Given the description of an element on the screen output the (x, y) to click on. 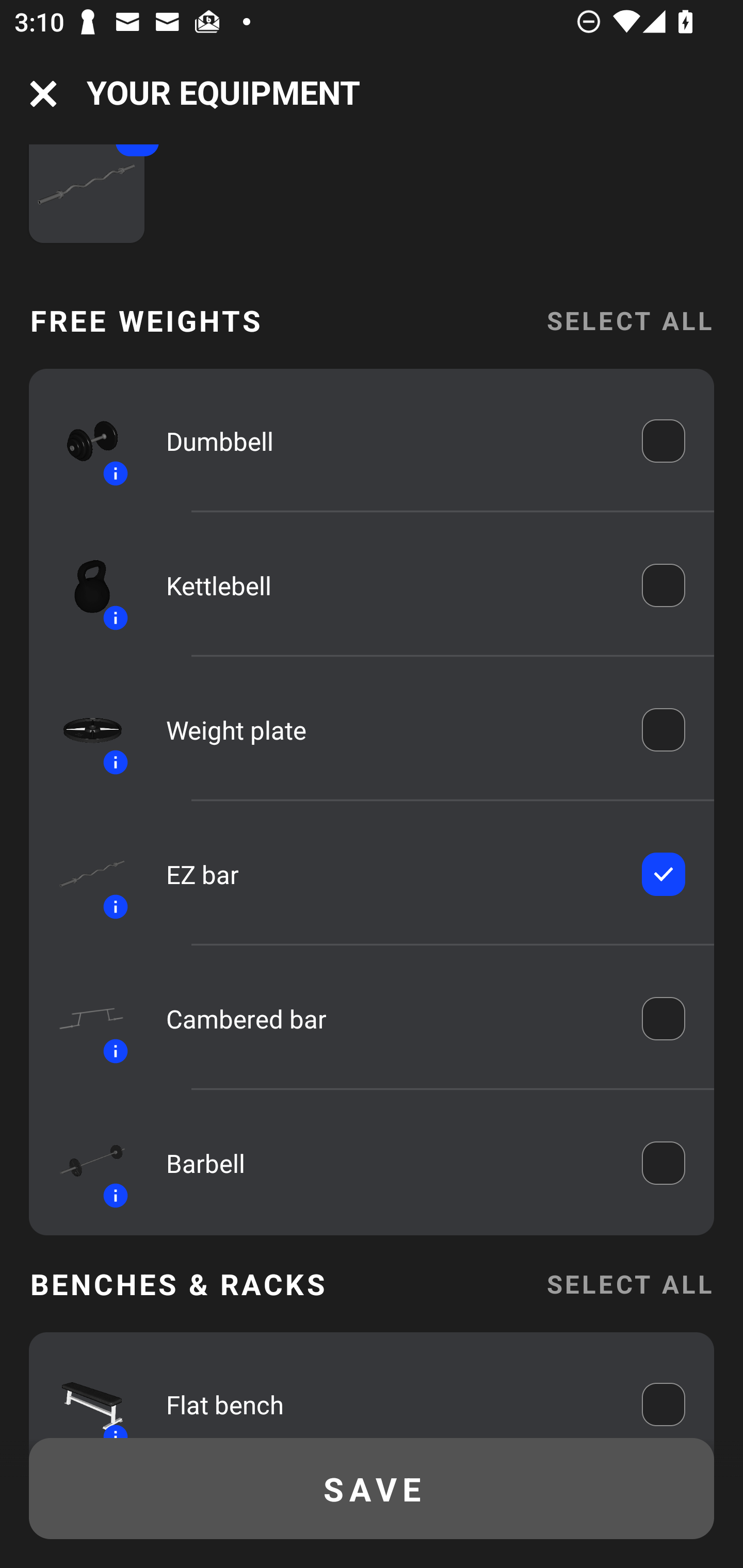
Navigation icon (43, 93)
SELECT ALL (629, 320)
Equipment icon Information icon (82, 441)
Dumbbell (389, 441)
Equipment icon Information icon (82, 585)
Kettlebell (389, 585)
Equipment icon Information icon (82, 729)
Weight plate (389, 729)
Equipment icon Information icon (82, 874)
EZ bar (389, 874)
Equipment icon Information icon (82, 1018)
Cambered bar (389, 1018)
Equipment icon Information icon (82, 1162)
Barbell (389, 1162)
SELECT ALL (629, 1283)
Equipment icon Information icon (82, 1393)
Flat bench (389, 1399)
SAVE (371, 1488)
